Given the description of an element on the screen output the (x, y) to click on. 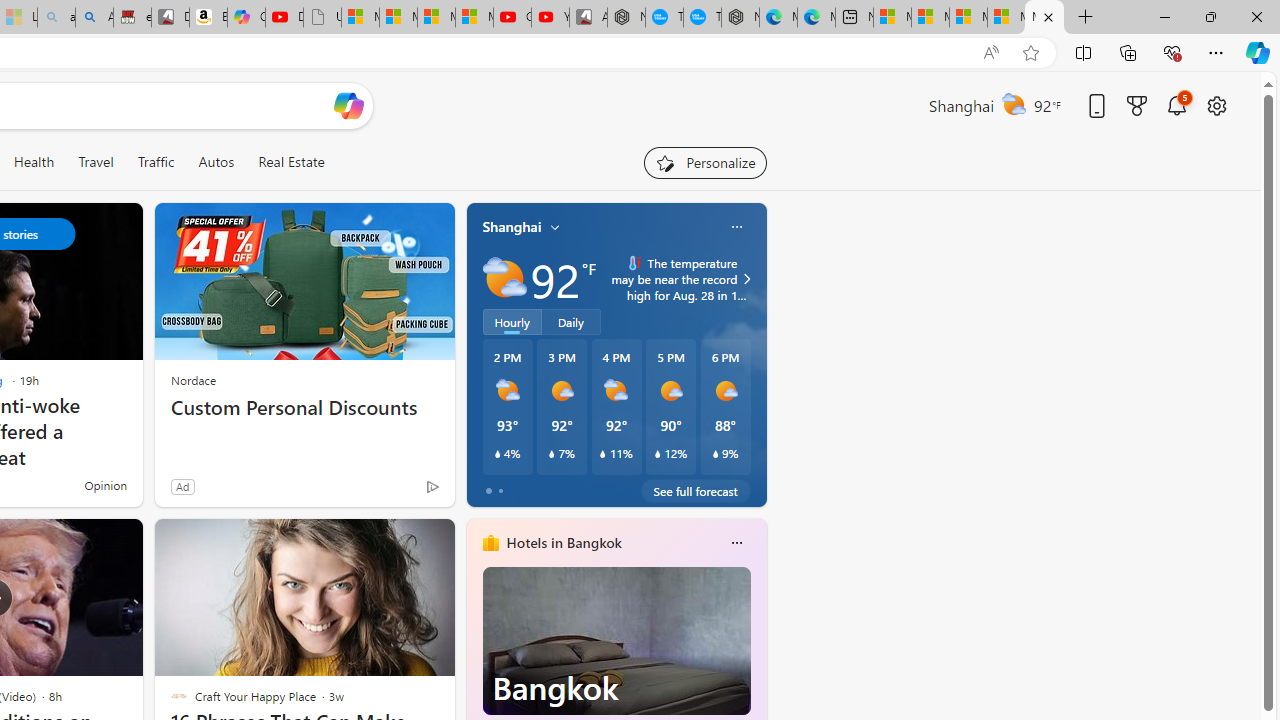
previous (476, 670)
next (756, 670)
Partly sunny (504, 278)
